Given the description of an element on the screen output the (x, y) to click on. 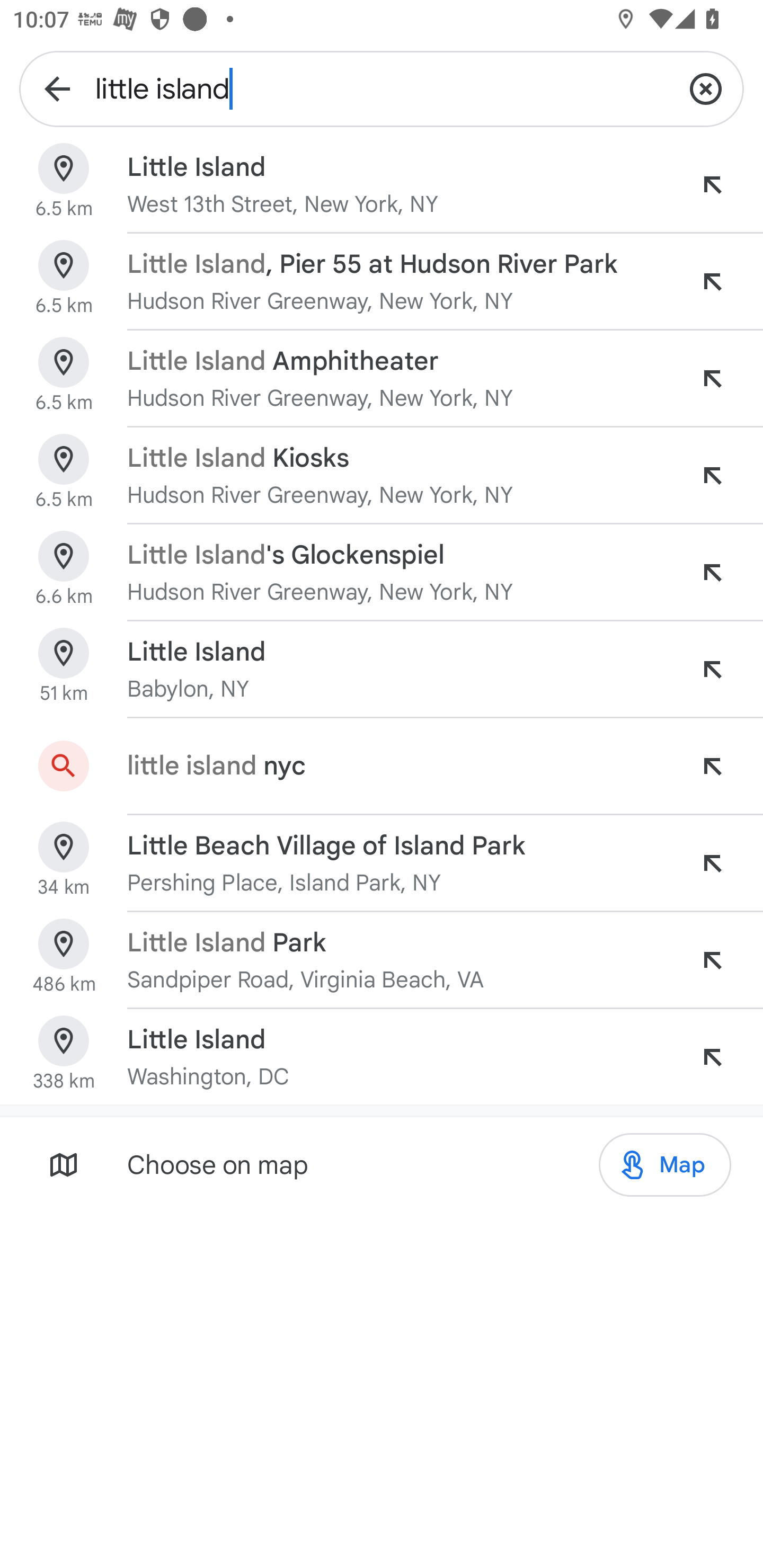
Navigate up (57, 88)
little island (381, 88)
Clear (705, 88)
Choose on map Map Map Map (381, 1164)
Map Map Map (664, 1164)
